Given the description of an element on the screen output the (x, y) to click on. 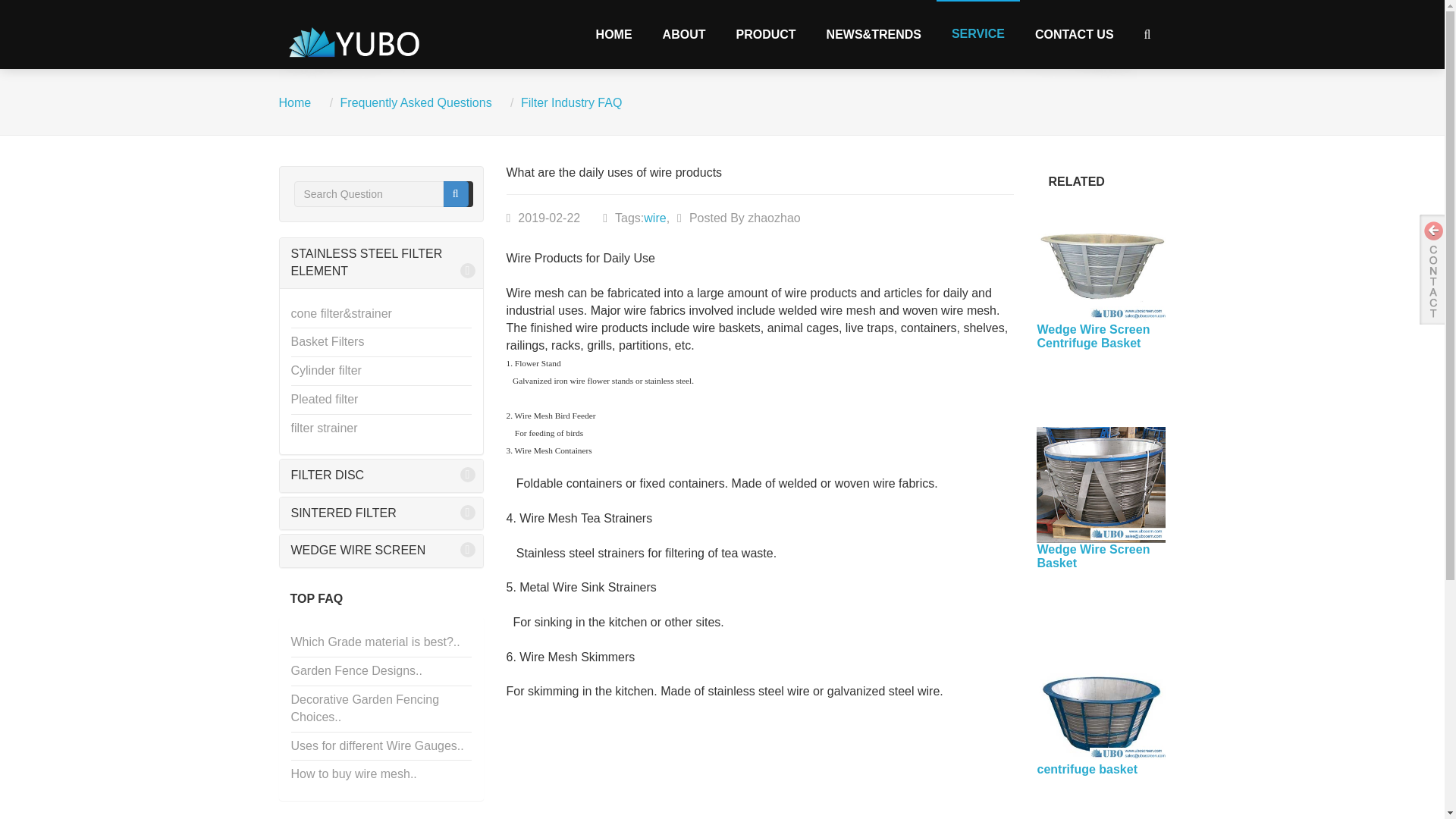
Filter Industry FAQ (571, 102)
SINTERED FILTER (380, 513)
Cylinder filter (381, 370)
Frequently Asked Questions (416, 102)
HOME (613, 33)
SERVICE (978, 33)
STAINLESS STEEL FILTER ELEMENT (380, 263)
PRODUCT (765, 33)
FILTER DISC (380, 475)
Basket Filters (381, 342)
ABOUT (683, 33)
Home (295, 102)
Pleated filter (381, 399)
CONTACT US (1074, 33)
filter strainer (381, 428)
